Given the description of an element on the screen output the (x, y) to click on. 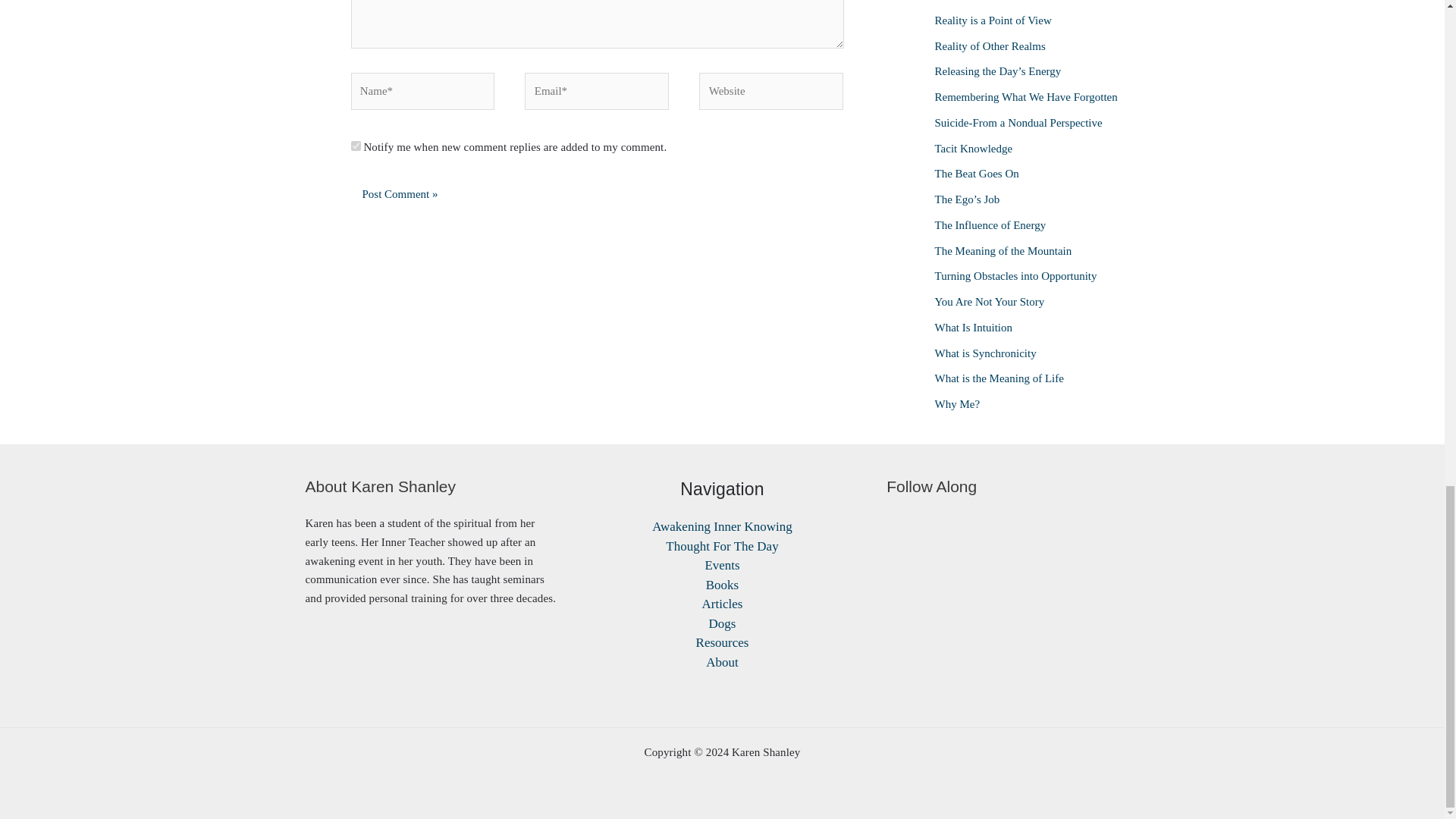
1 (354, 145)
